Given the description of an element on the screen output the (x, y) to click on. 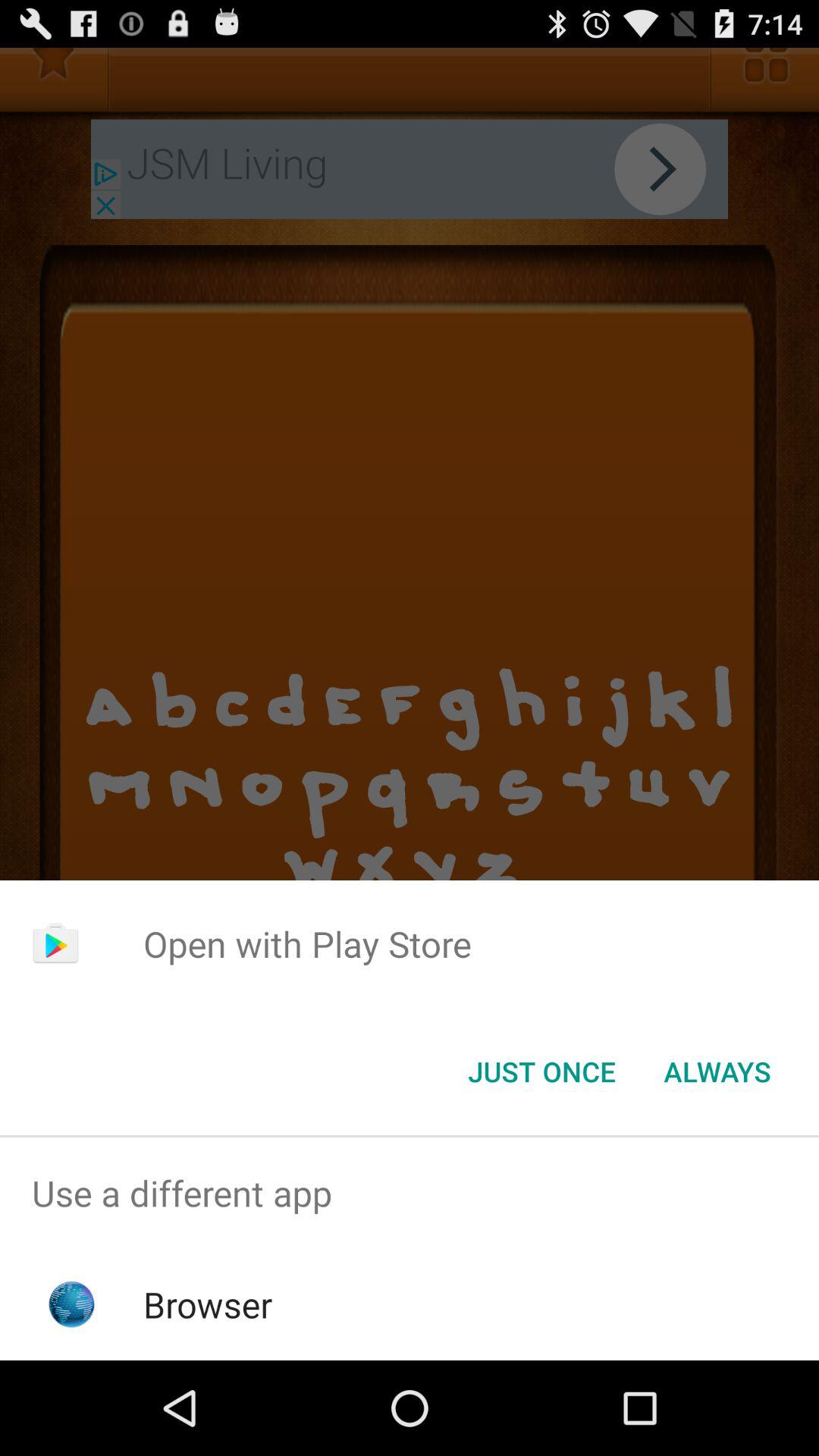
click always (717, 1071)
